Given the description of an element on the screen output the (x, y) to click on. 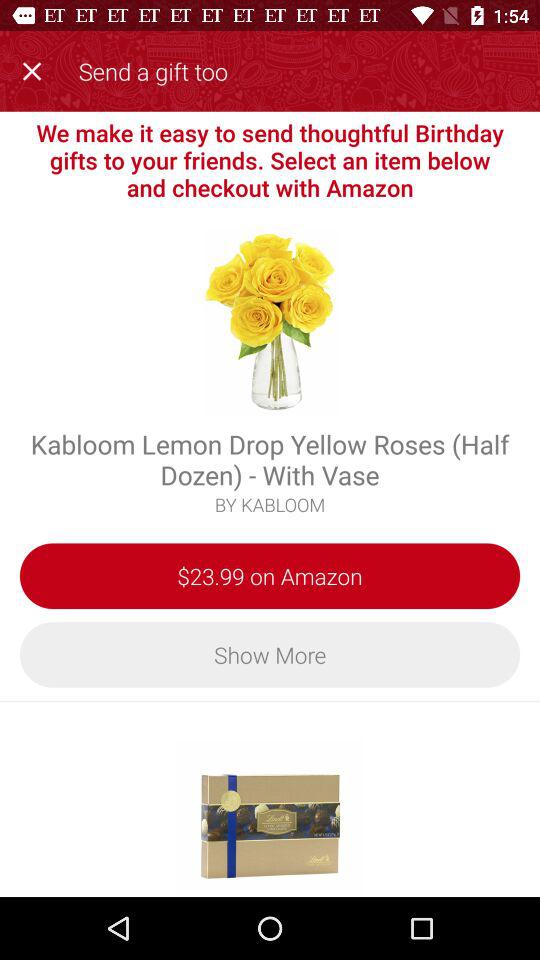
choose the 23 99 on item (269, 575)
